Given the description of an element on the screen output the (x, y) to click on. 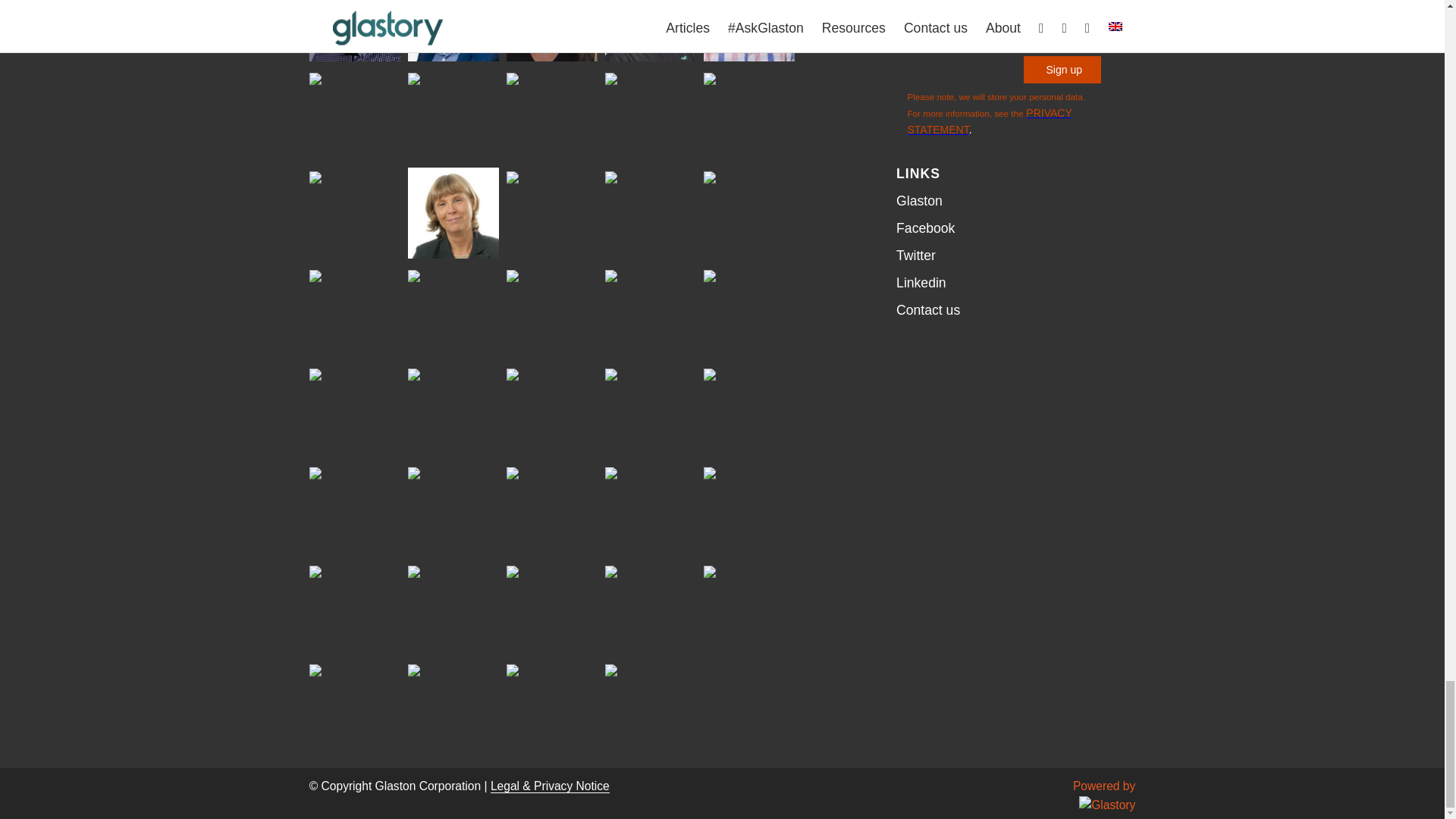
Glastory (1106, 805)
